Given the description of an element on the screen output the (x, y) to click on. 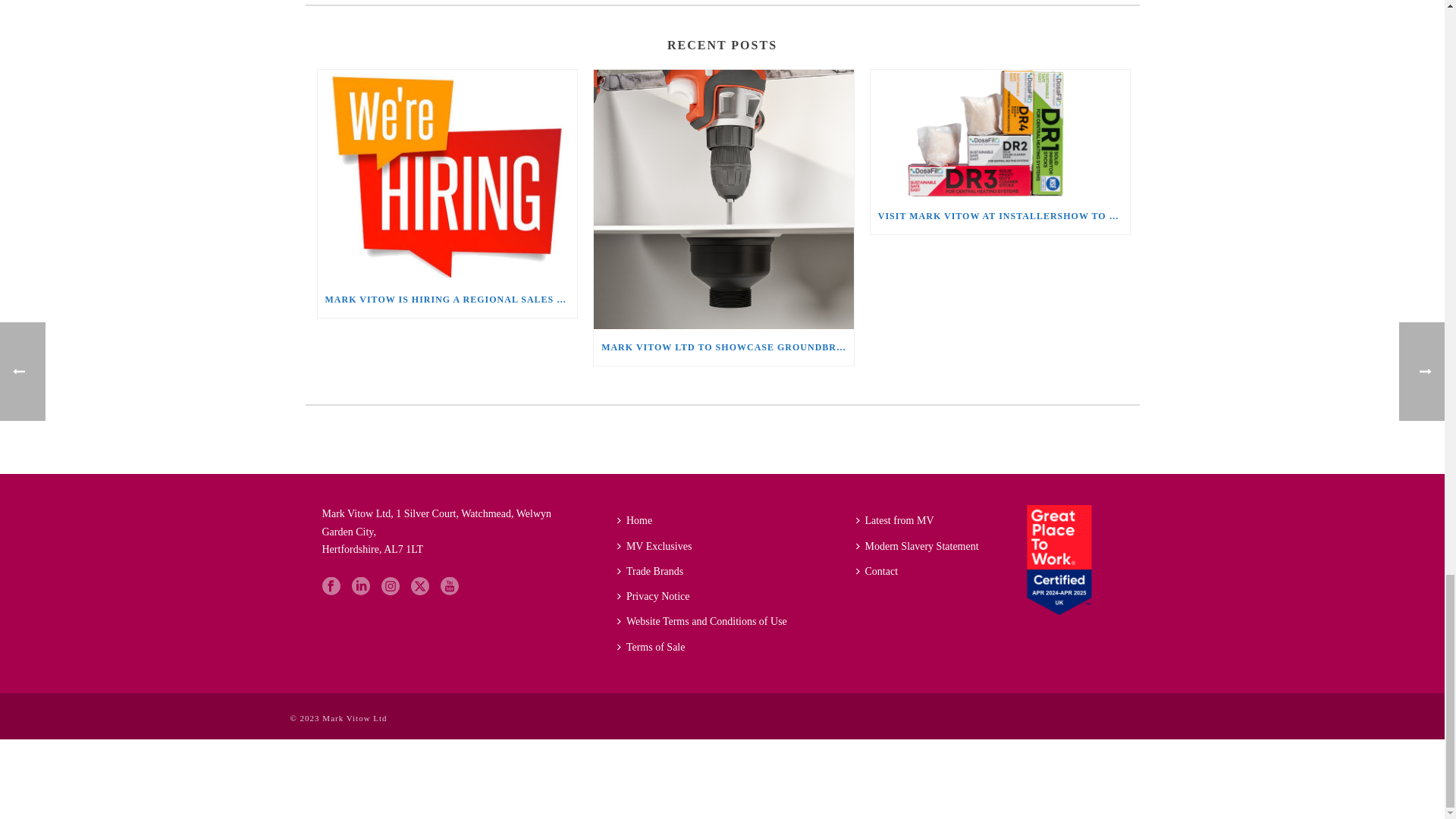
Follow Us on youtube (448, 587)
Follow Us on linkedin (360, 587)
Follow Us on facebook (330, 587)
Follow Us on twitter (419, 587)
